Given the description of an element on the screen output the (x, y) to click on. 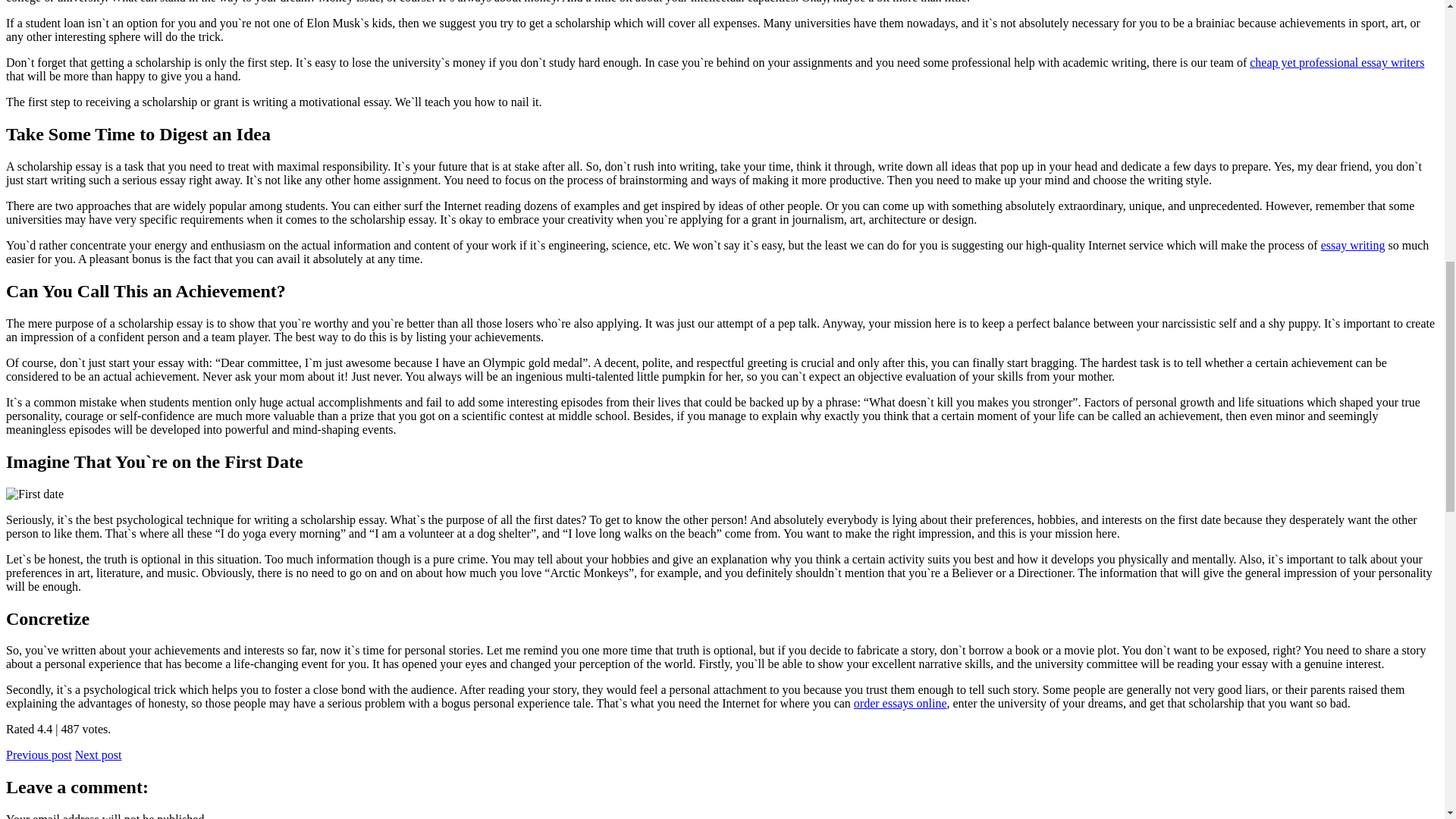
Next post (98, 754)
essay writing (1353, 245)
Previous post (38, 754)
cheap yet professional essay writers (1336, 62)
First date (34, 494)
order essays online (900, 703)
